Given the description of an element on the screen output the (x, y) to click on. 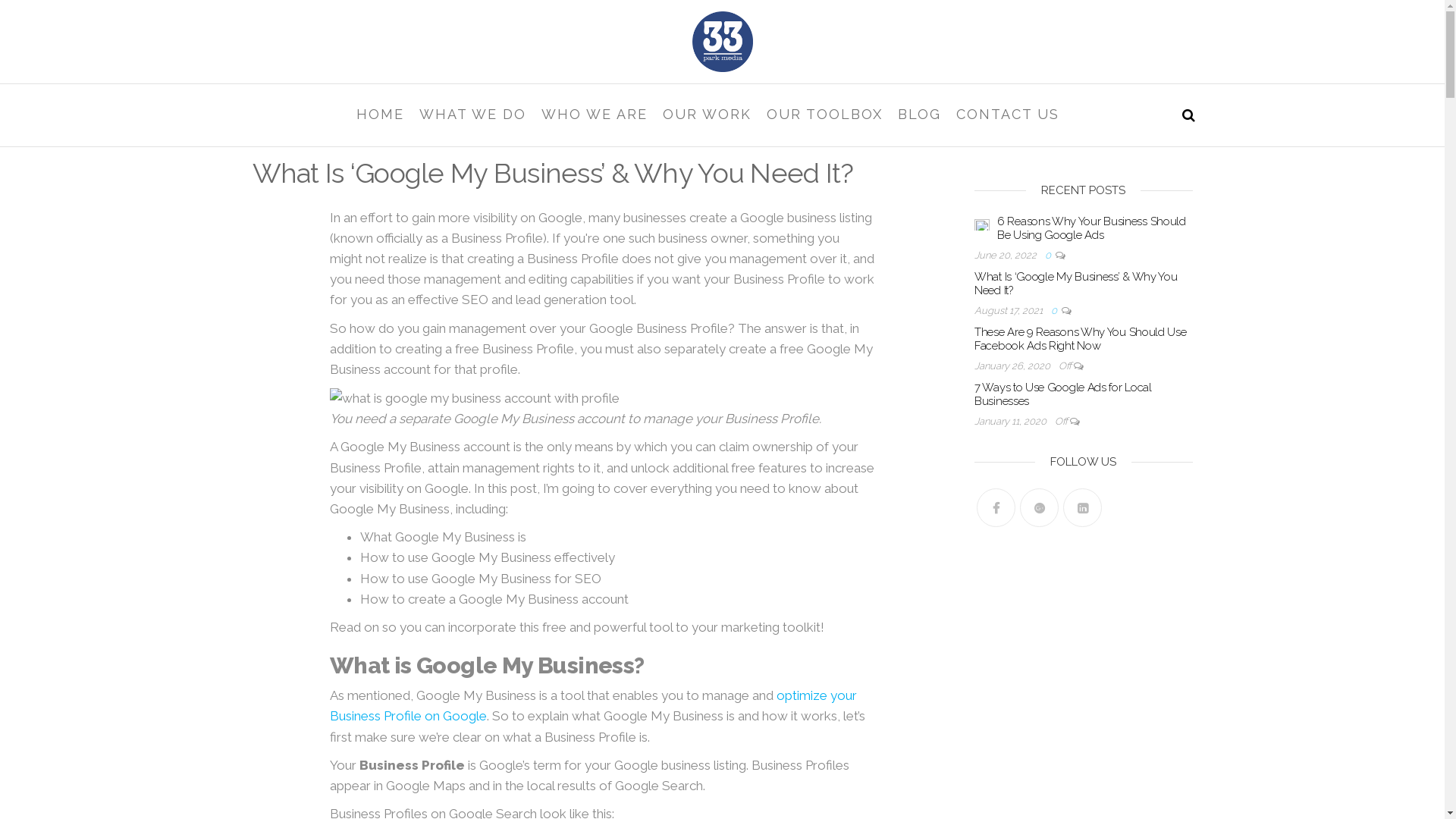
CONTACT US Element type: text (1006, 114)
OUR TOOLBOX Element type: text (823, 114)
WHAT WE DO Element type: text (472, 114)
33 PARK MEDIA Element type: text (342, 83)
GooglePlus Element type: hover (1038, 507)
Facebook Element type: hover (995, 507)
LinkedIn Element type: hover (1082, 507)
OUR WORK Element type: text (707, 114)
6 Reasons Why Your Business Should Be Using Google Ads Element type: text (1091, 227)
BLOG Element type: text (919, 114)
0 Element type: text (1049, 254)
6 Reasons Why Your Business Should Be Using Google Ads Element type: hover (981, 223)
WHO WE ARE Element type: text (594, 114)
HOME Element type: text (379, 114)
0 Element type: text (1056, 310)
optimize your Business Profile on Google Element type: text (592, 705)
7 Ways to Use Google Ads for Local Businesses Element type: text (1062, 393)
